Given the description of an element on the screen output the (x, y) to click on. 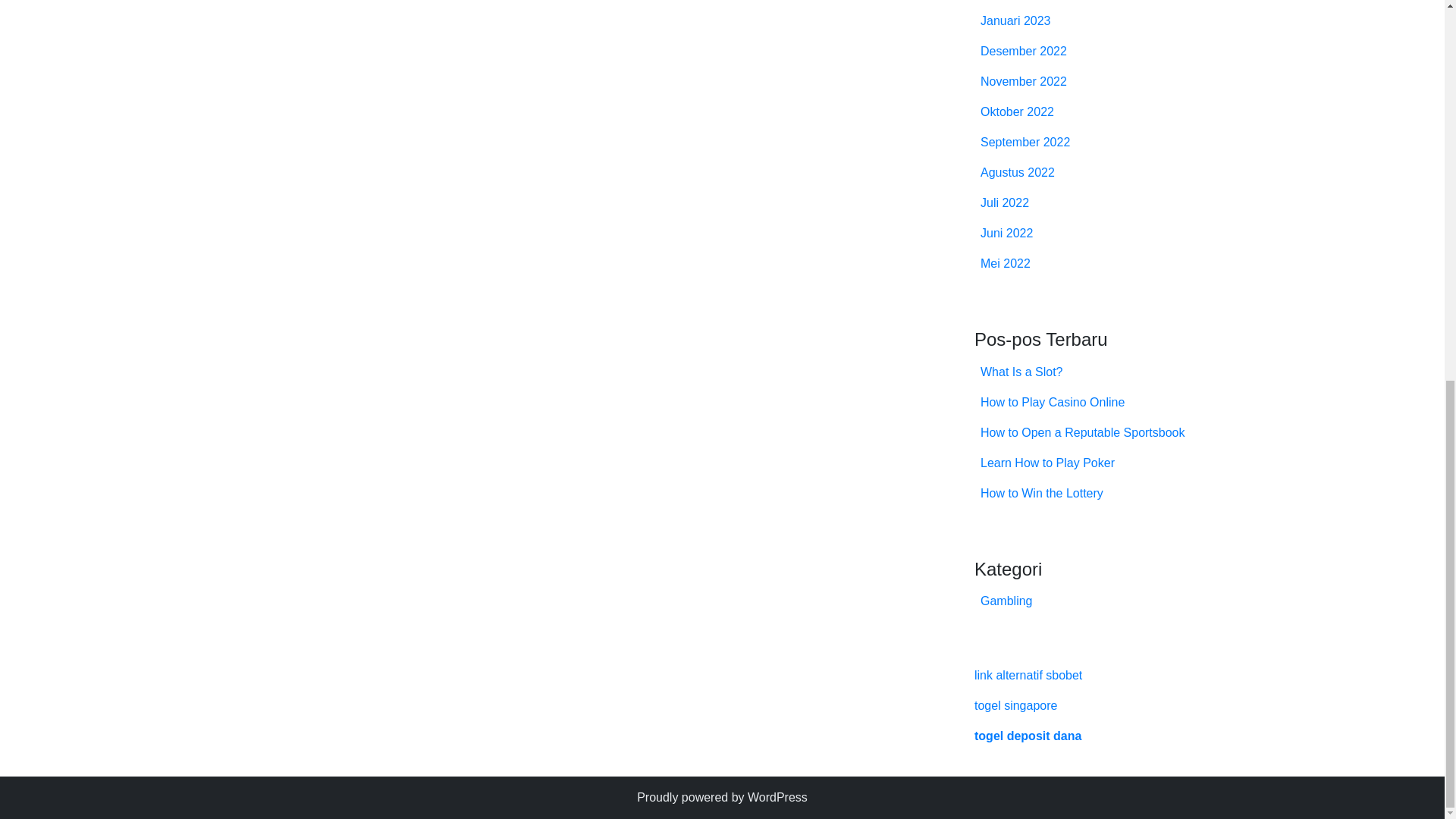
Mei 2022 (1004, 263)
What Is a Slot? (1020, 371)
How to Play Casino Online (1051, 401)
Juni 2022 (1005, 232)
Oktober 2022 (1016, 111)
How to Open a Reputable Sportsbook (1082, 431)
Januari 2023 (1015, 20)
Juli 2022 (1004, 202)
Desember 2022 (1023, 51)
How to Win the Lottery (1041, 492)
